Given the description of an element on the screen output the (x, y) to click on. 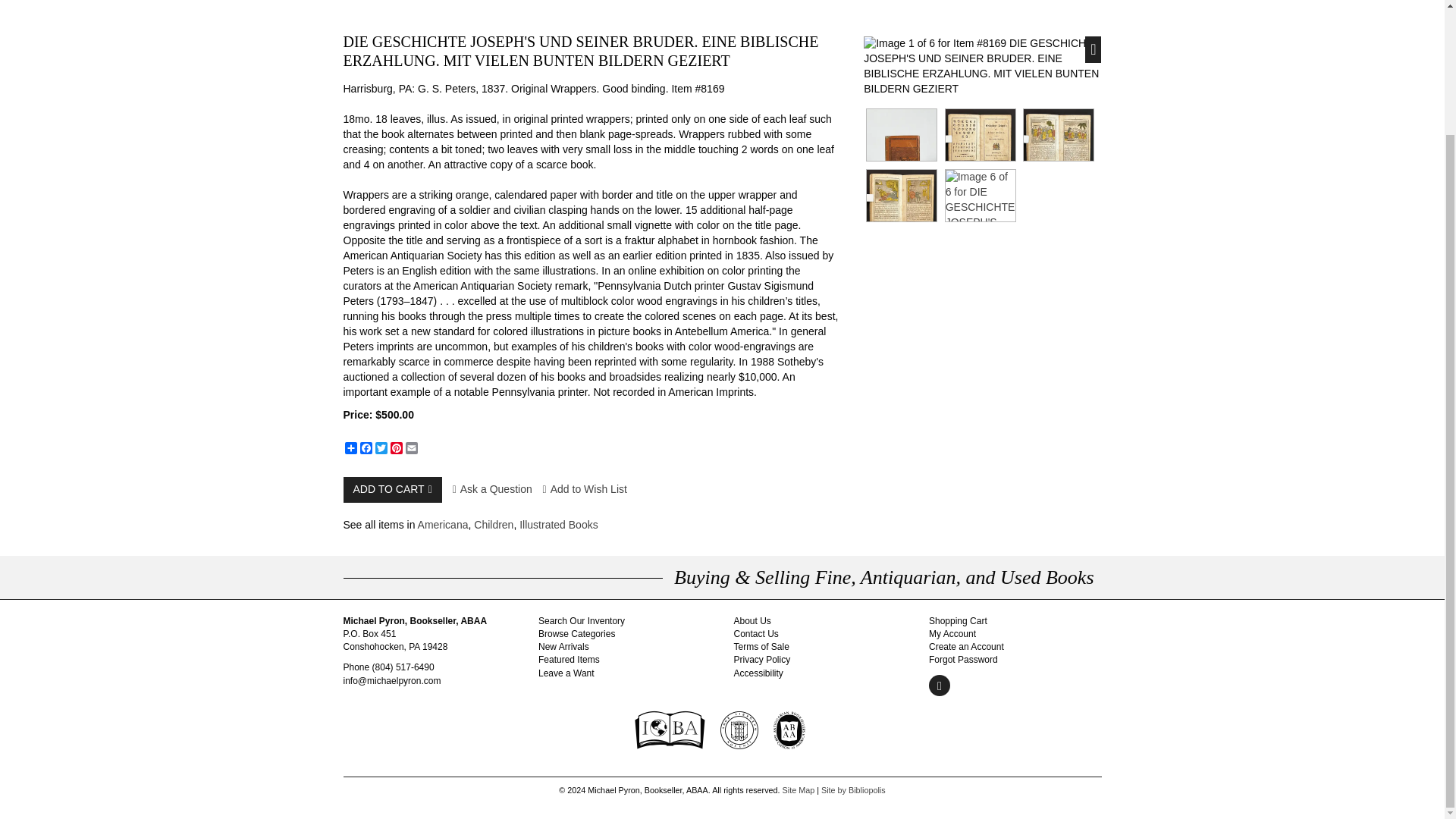
Share (350, 448)
Ask a Question (492, 489)
Email (411, 448)
Pinterest (395, 448)
ADD TO CART (391, 489)
Twitter (380, 448)
Site by Bibliopolis (853, 789)
Facebook (365, 448)
